Given the description of an element on the screen output the (x, y) to click on. 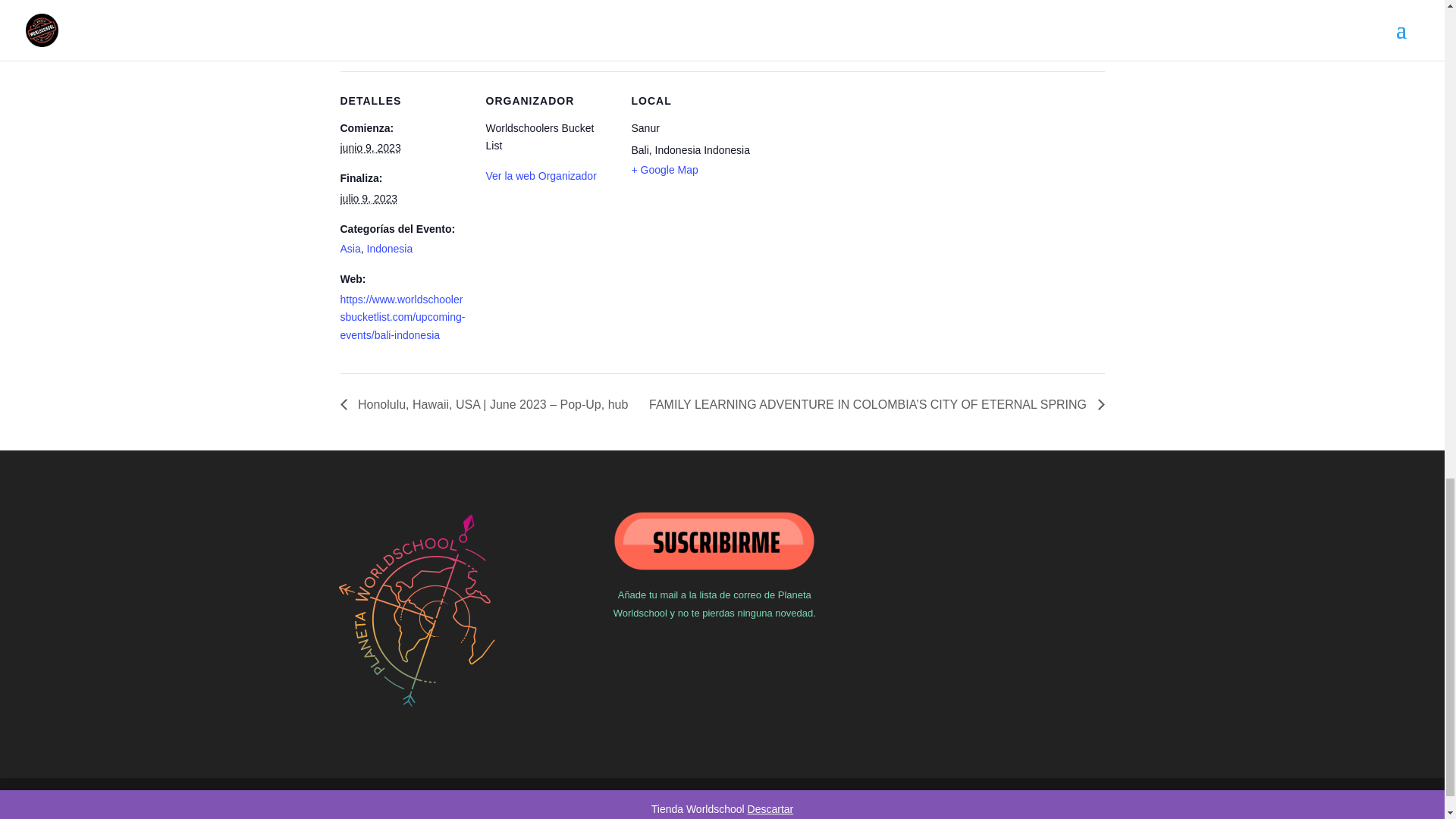
2023-07-09 (368, 198)
Haz clic para ver un mapa de Google (663, 169)
2023-06-09 (369, 147)
